Given the description of an element on the screen output the (x, y) to click on. 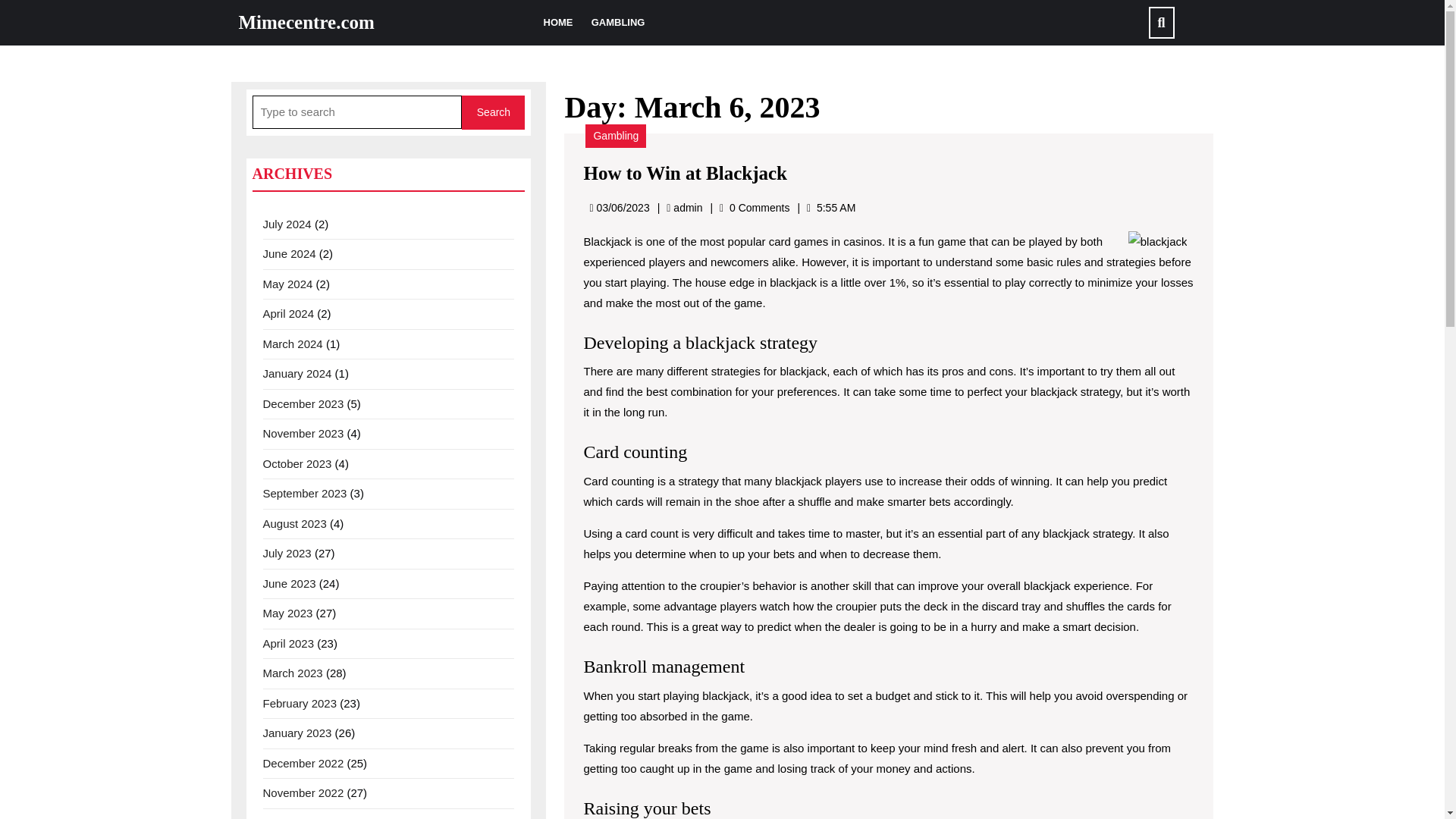
April 2023 (288, 643)
October 2023 (296, 462)
June 2024 (288, 253)
Search (492, 112)
GAMBLING (618, 22)
August 2023 (294, 522)
April 2024 (288, 313)
July 2024 (286, 223)
November 2023 (302, 432)
December 2022 (302, 762)
